Given the description of an element on the screen output the (x, y) to click on. 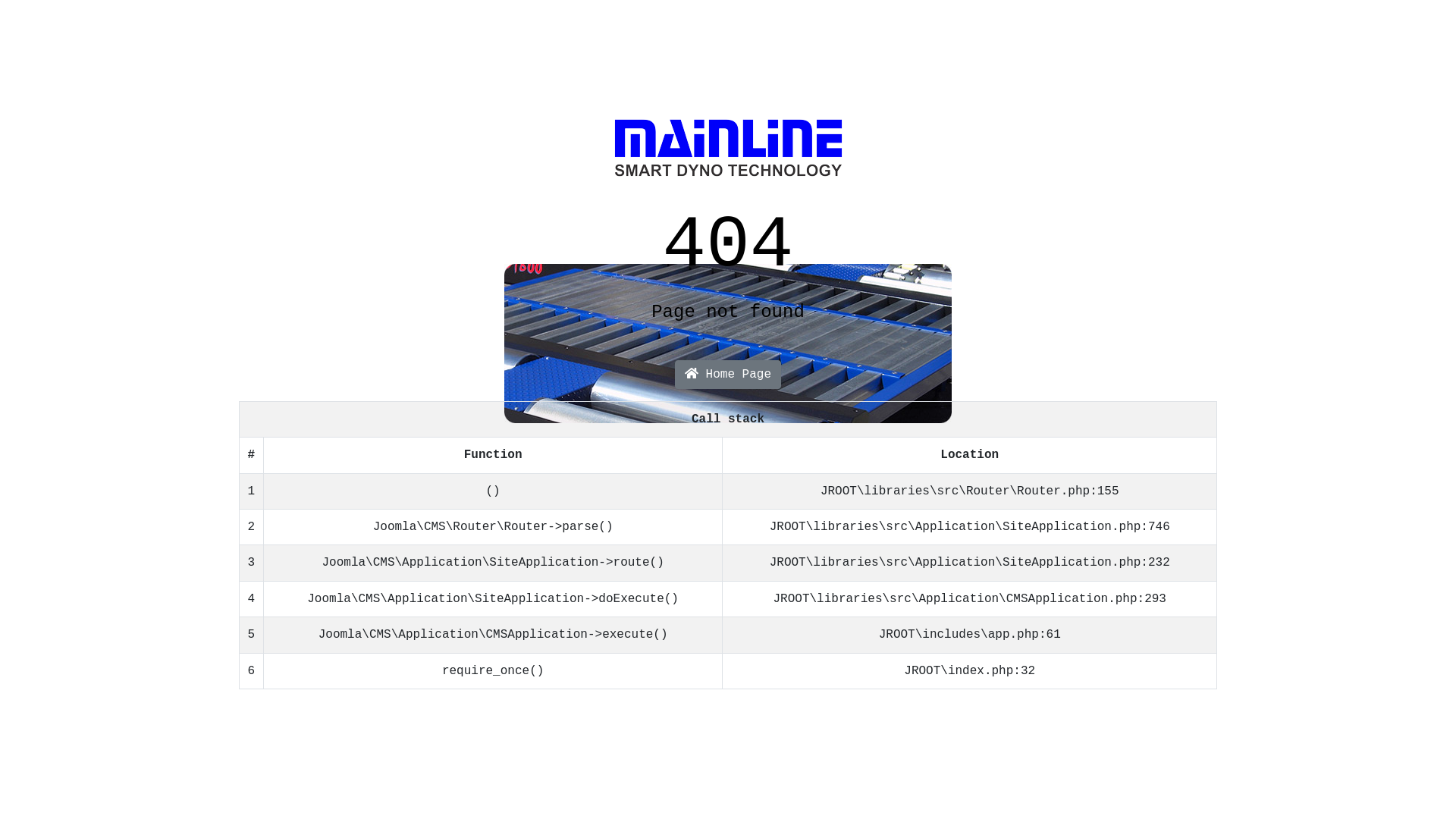
Home Page Element type: text (727, 374)
